Given the description of an element on the screen output the (x, y) to click on. 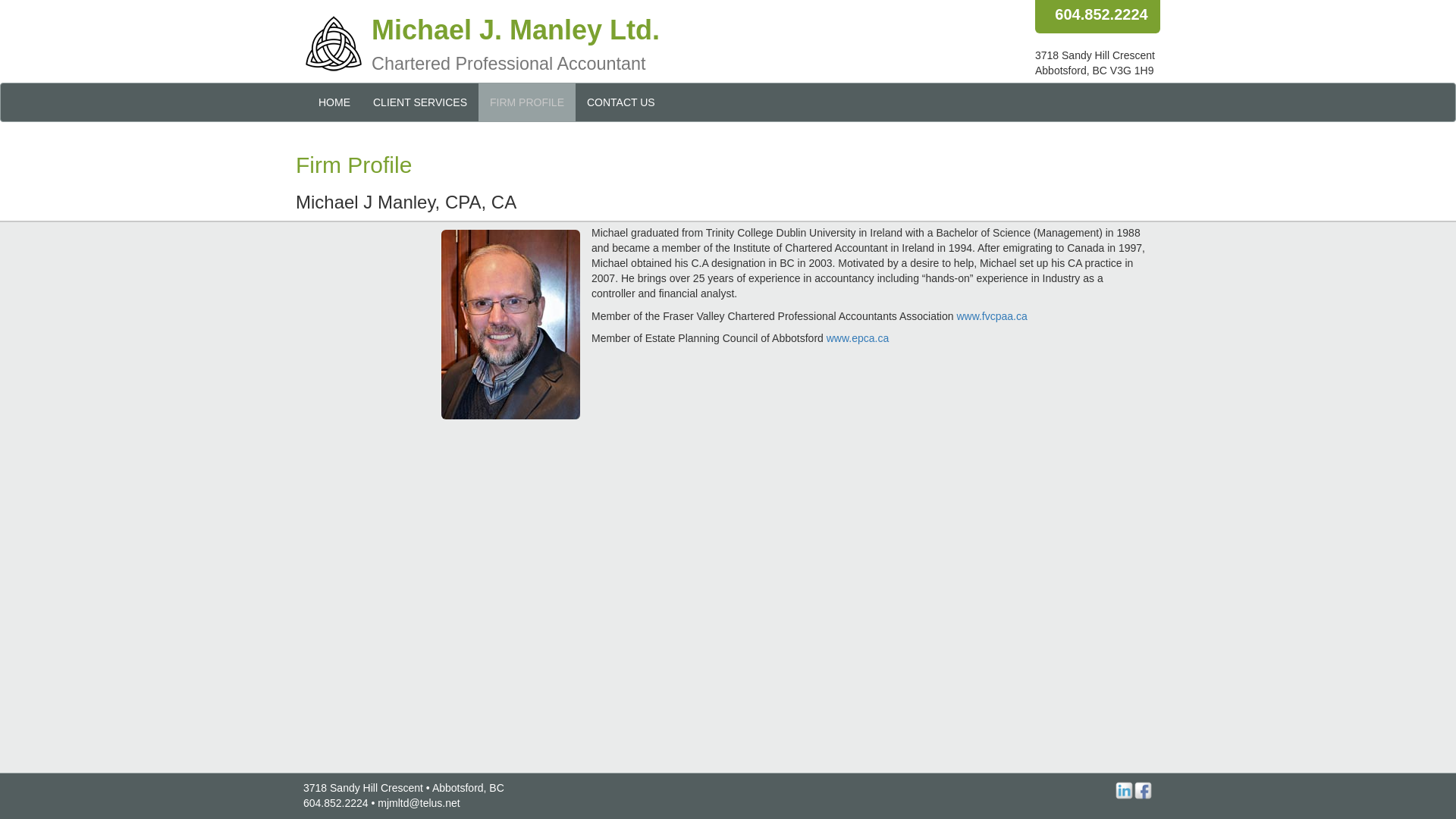
CLIENT SERVICES (420, 102)
www.fvcpaa.ca (991, 315)
CONTACT US (620, 102)
www.epca.ca (857, 337)
HOME (334, 102)
FIRM PROFILE (527, 102)
